Given the description of an element on the screen output the (x, y) to click on. 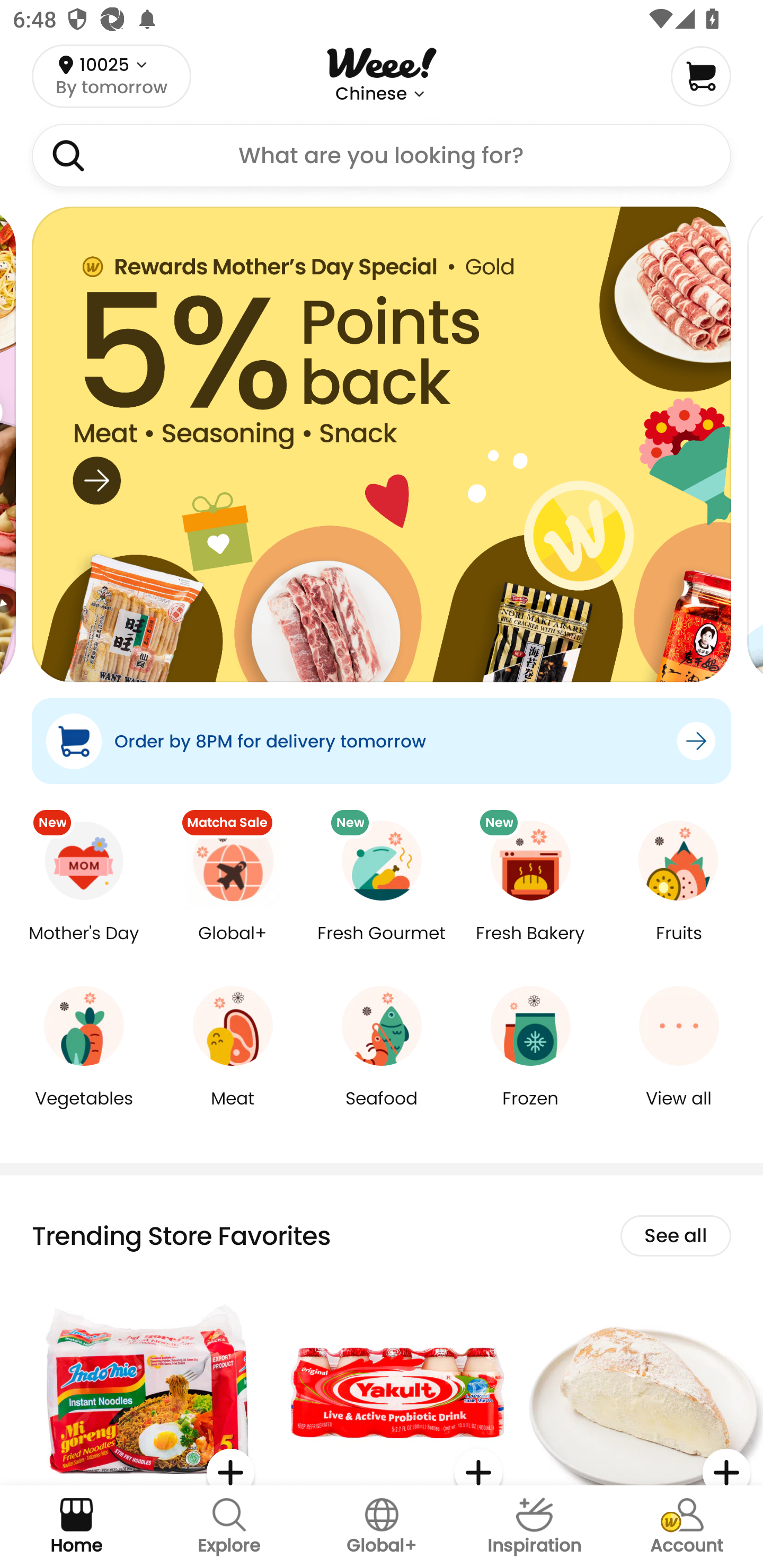
10025 By tomorrow (111, 75)
Chinese (370, 93)
What are you looking for? (381, 155)
Order by 8PM for delivery tomorrow (381, 740)
Mother's Day (83, 946)
Global+ (232, 946)
Fresh Gourmet (381, 946)
Fresh Bakery (530, 946)
Fruits (678, 946)
Vegetables (83, 1111)
Meat (232, 1111)
Seafood (381, 1111)
Frozen (530, 1111)
View all (678, 1111)
Home (76, 1526)
Explore (228, 1526)
Global+ (381, 1526)
Inspiration (533, 1526)
Account (686, 1526)
